Given the description of an element on the screen output the (x, y) to click on. 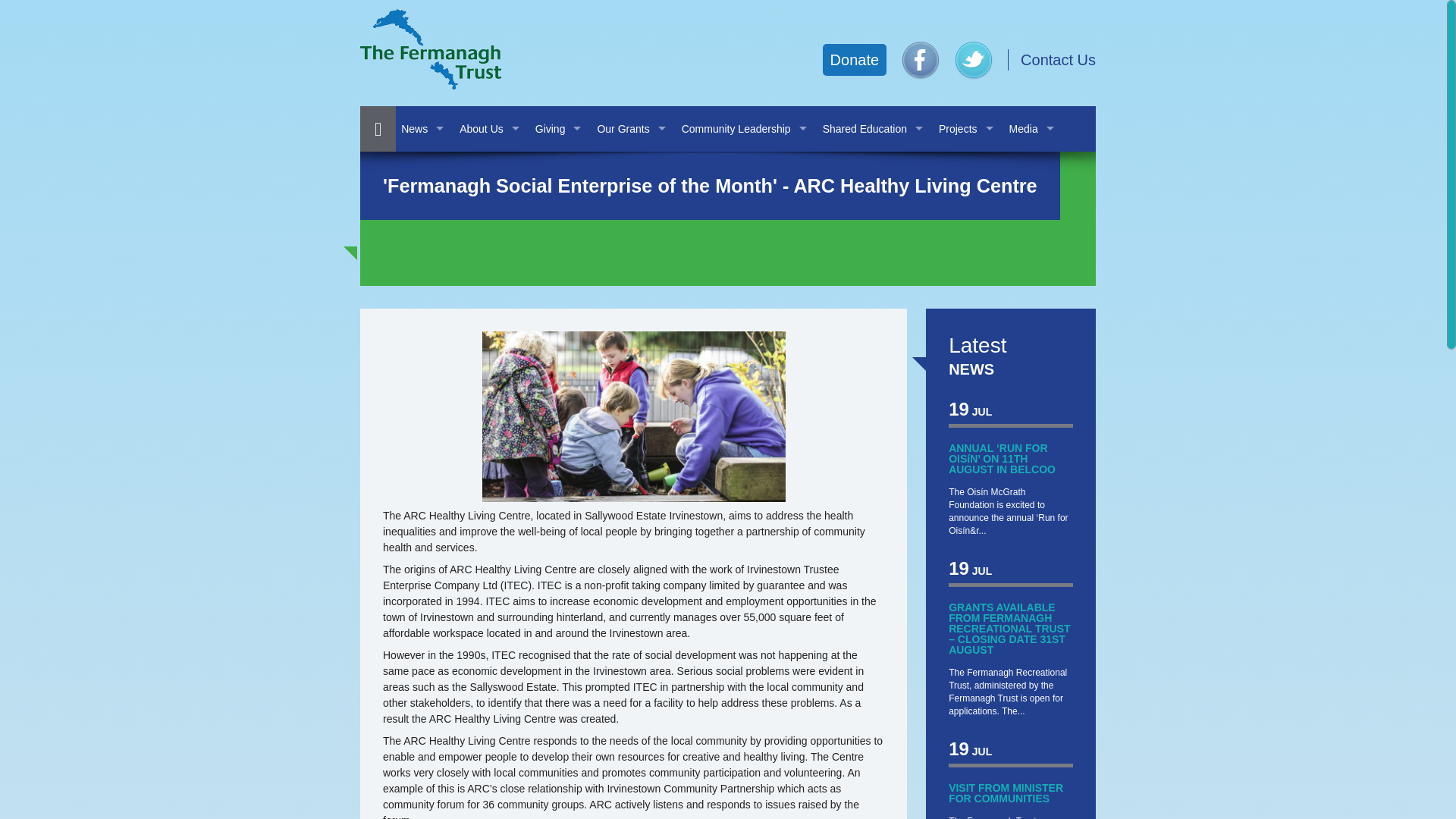
Fermanagh Trust (429, 49)
Donate (854, 60)
Contact Us (1058, 59)
